Given the description of an element on the screen output the (x, y) to click on. 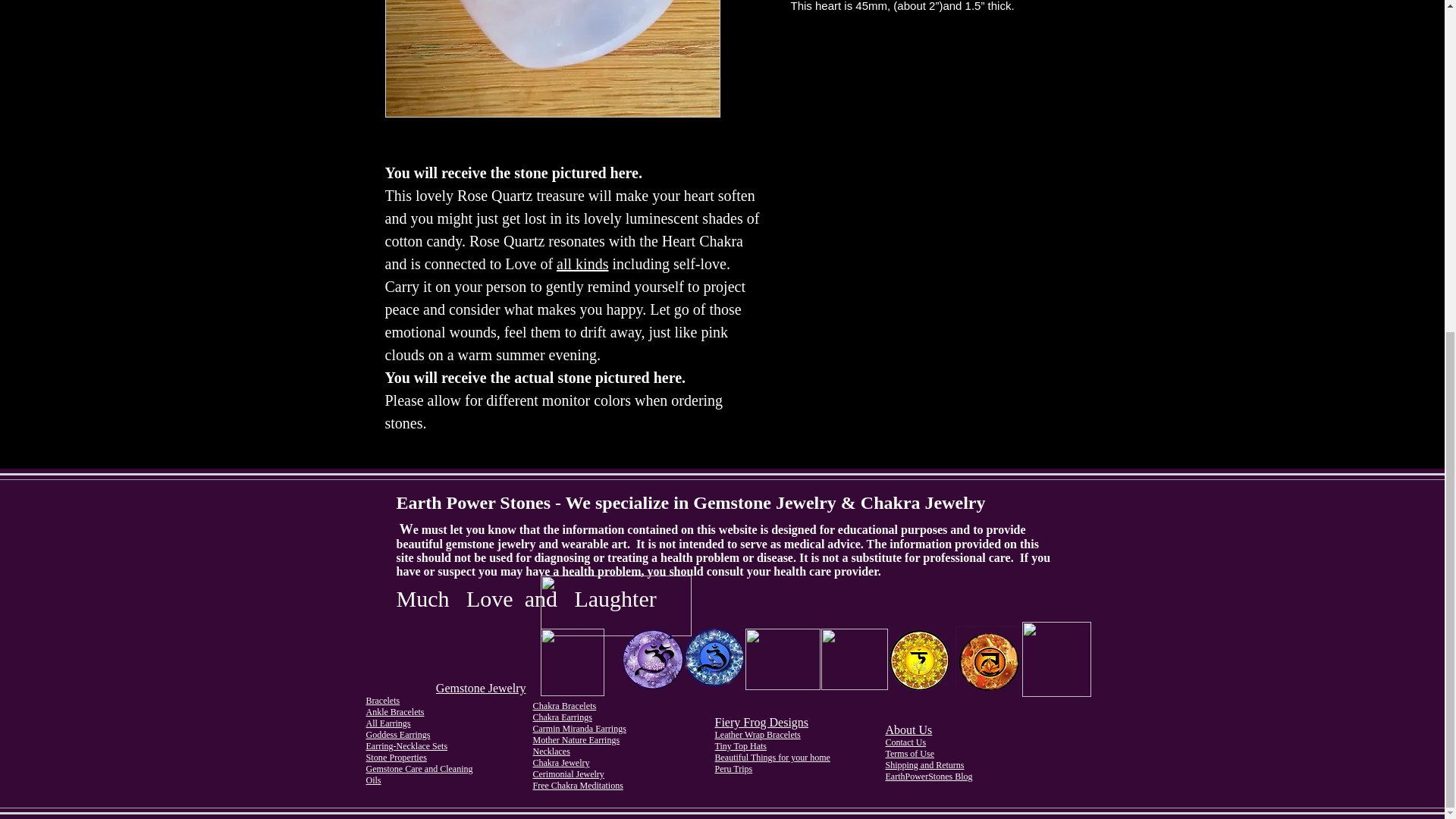
Root Chakra (1056, 658)
Throat Chakra design (781, 659)
Brow Chakra design (714, 657)
Chakra Page, the seven chakras and their brief descriptions (572, 662)
Solar Plexus Chakra (919, 660)
Heart Chakra (853, 659)
Crown Chakra design (651, 658)
Sacral Chakra (988, 659)
